Given the description of an element on the screen output the (x, y) to click on. 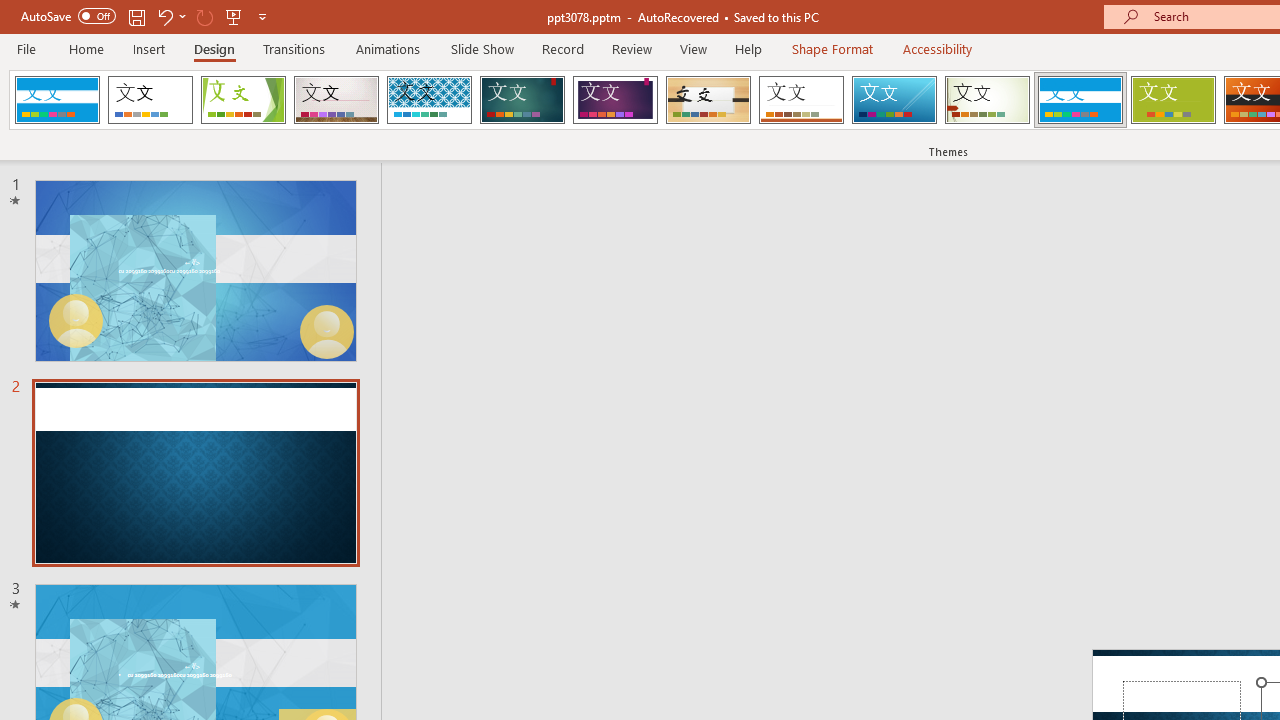
Wisp (987, 100)
Shape Format (832, 48)
Integral (429, 100)
Ion (522, 100)
